Given the description of an element on the screen output the (x, y) to click on. 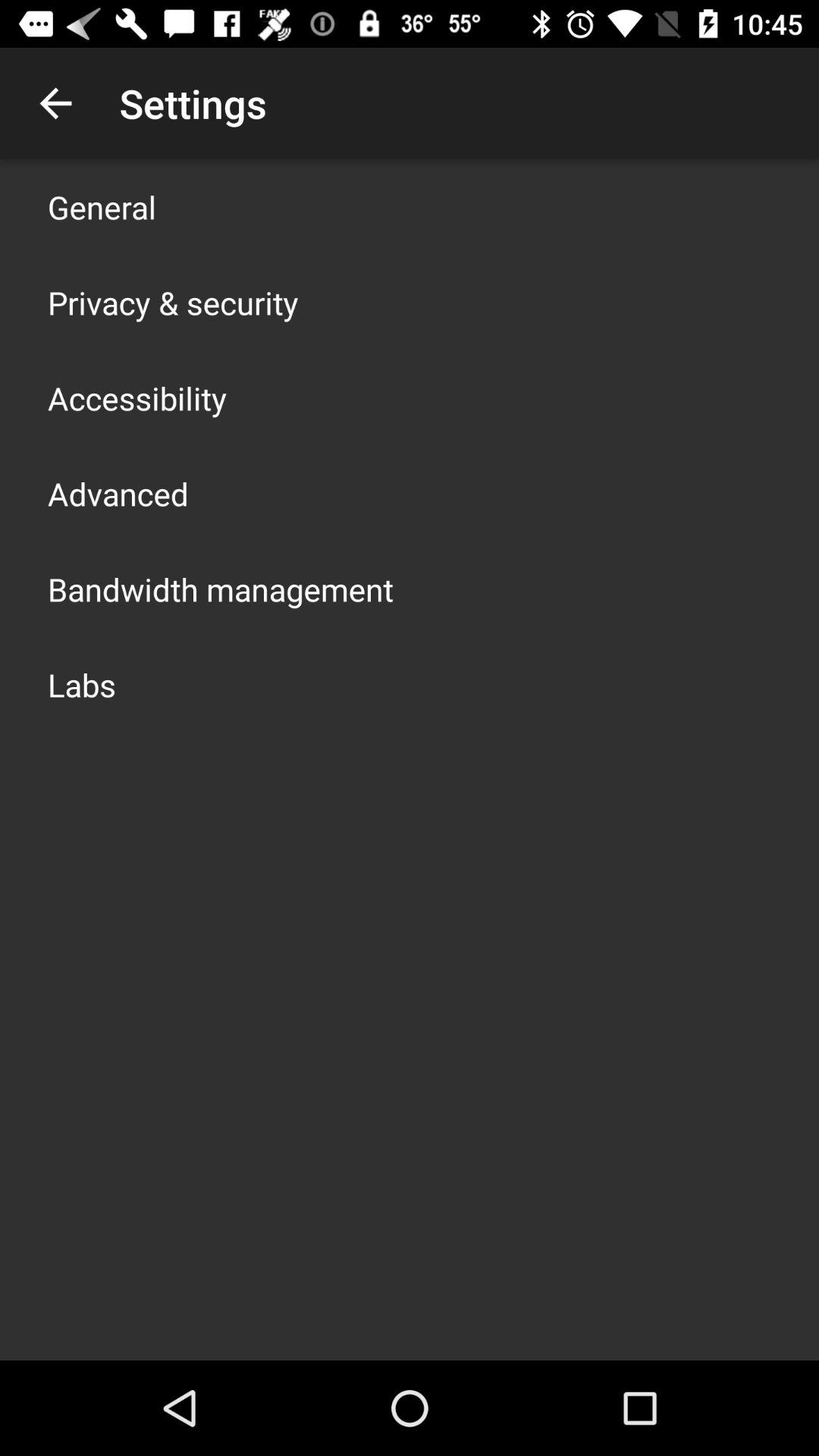
click item below bandwidth management icon (81, 684)
